Given the description of an element on the screen output the (x, y) to click on. 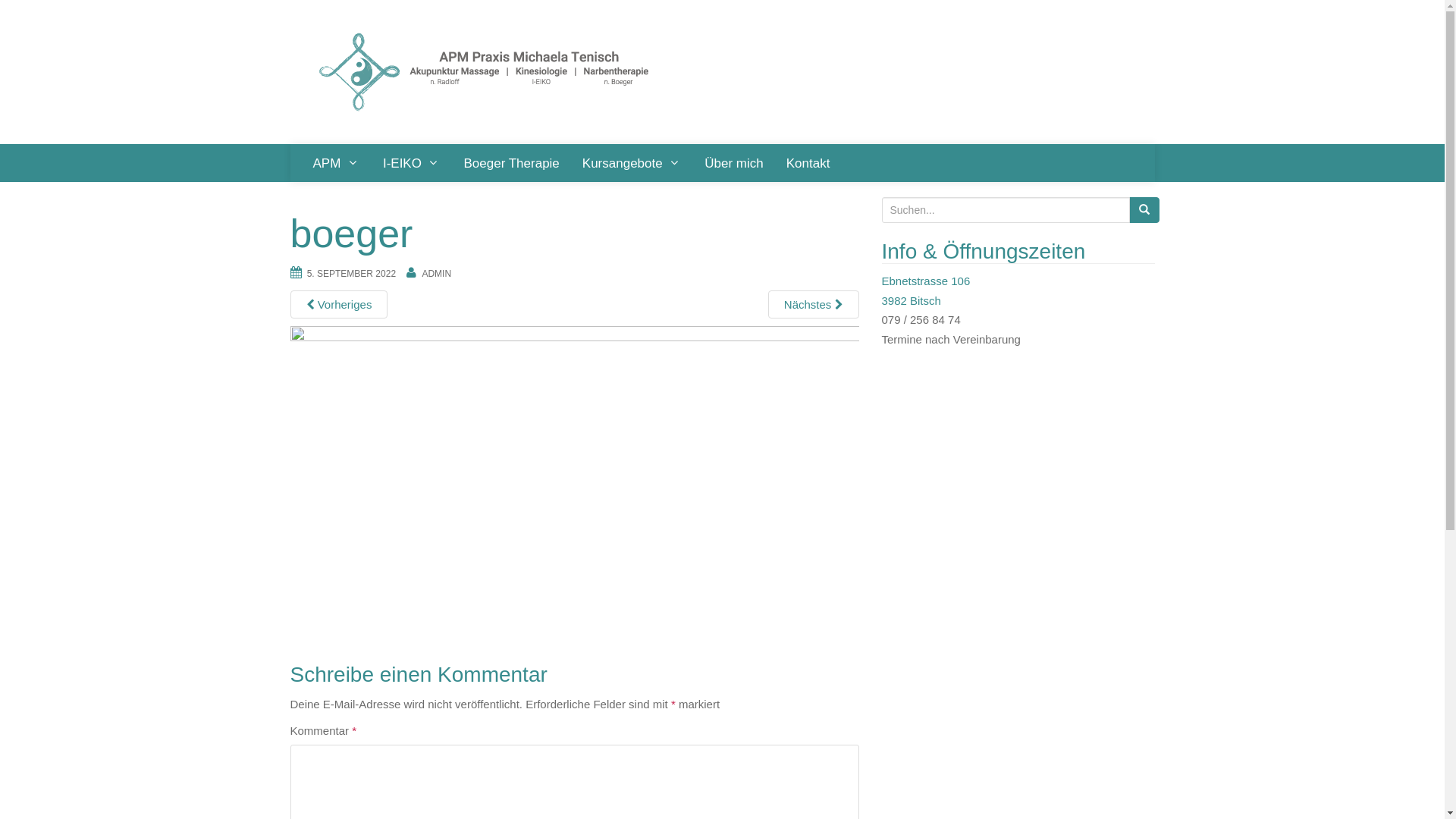
I-EIKO Element type: text (411, 163)
Kursangebote Element type: text (632, 163)
APM Element type: text (336, 163)
Boeger Therapie Element type: text (510, 163)
5. SEPTEMBER 2022 Element type: text (351, 273)
Vorheriges Element type: text (338, 304)
Kontakt Element type: text (808, 163)
boeger Element type: hover (573, 484)
ADMIN Element type: text (436, 273)
Ebnetstrasse 106
3982 Bitsch Element type: text (925, 290)
